Given the description of an element on the screen output the (x, y) to click on. 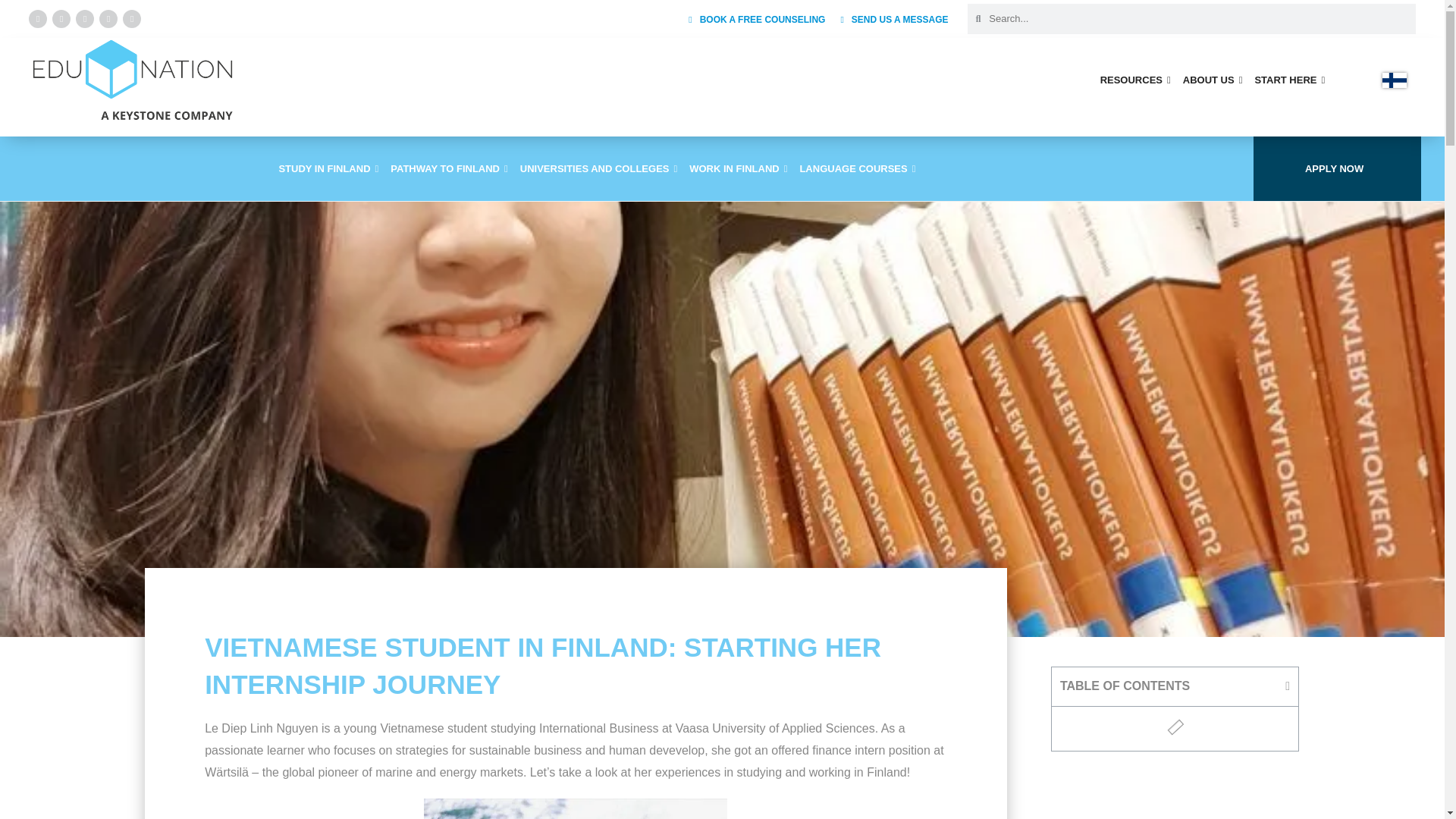
BOOK A FREE COUNSELING (756, 19)
SEND US A MESSAGE (893, 19)
